Given the description of an element on the screen output the (x, y) to click on. 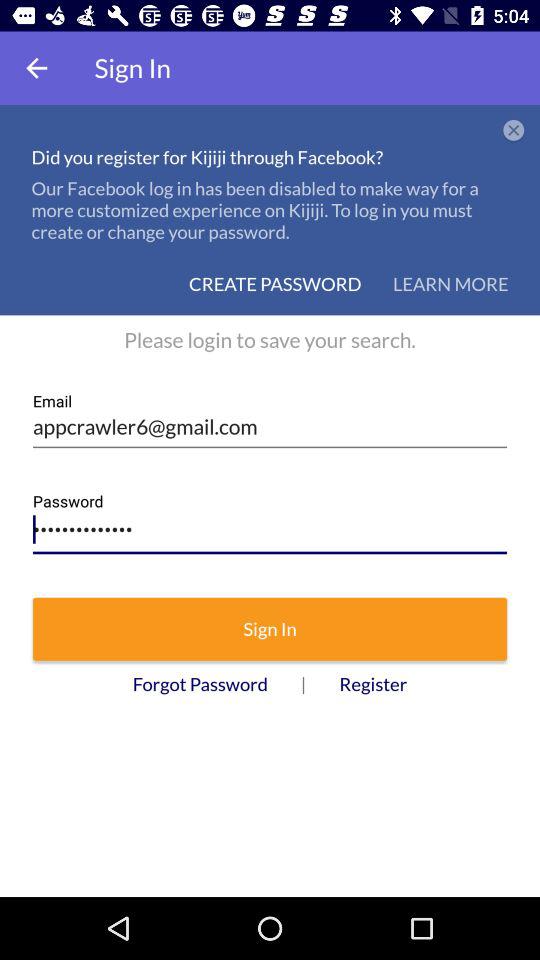
click the icon above sign in icon (270, 524)
